Given the description of an element on the screen output the (x, y) to click on. 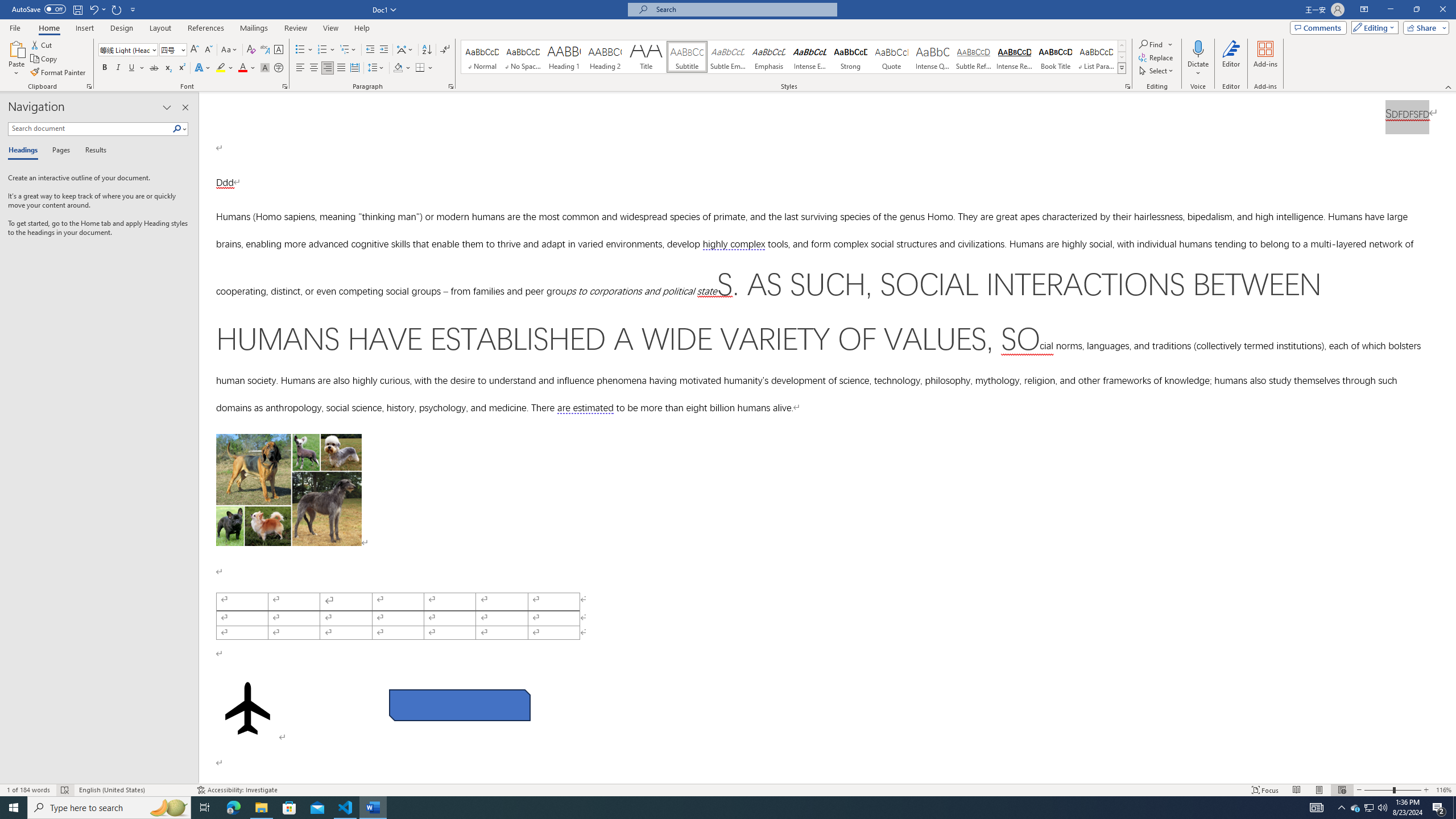
Enclose Characters... (278, 67)
Justify (340, 67)
Emphasis (768, 56)
Rectangle: Diagonal Corners Snipped 2 (458, 759)
Increase Indent (383, 49)
Heading 2 (605, 56)
Shrink Font (208, 49)
Superscript (180, 67)
